Given the description of an element on the screen output the (x, y) to click on. 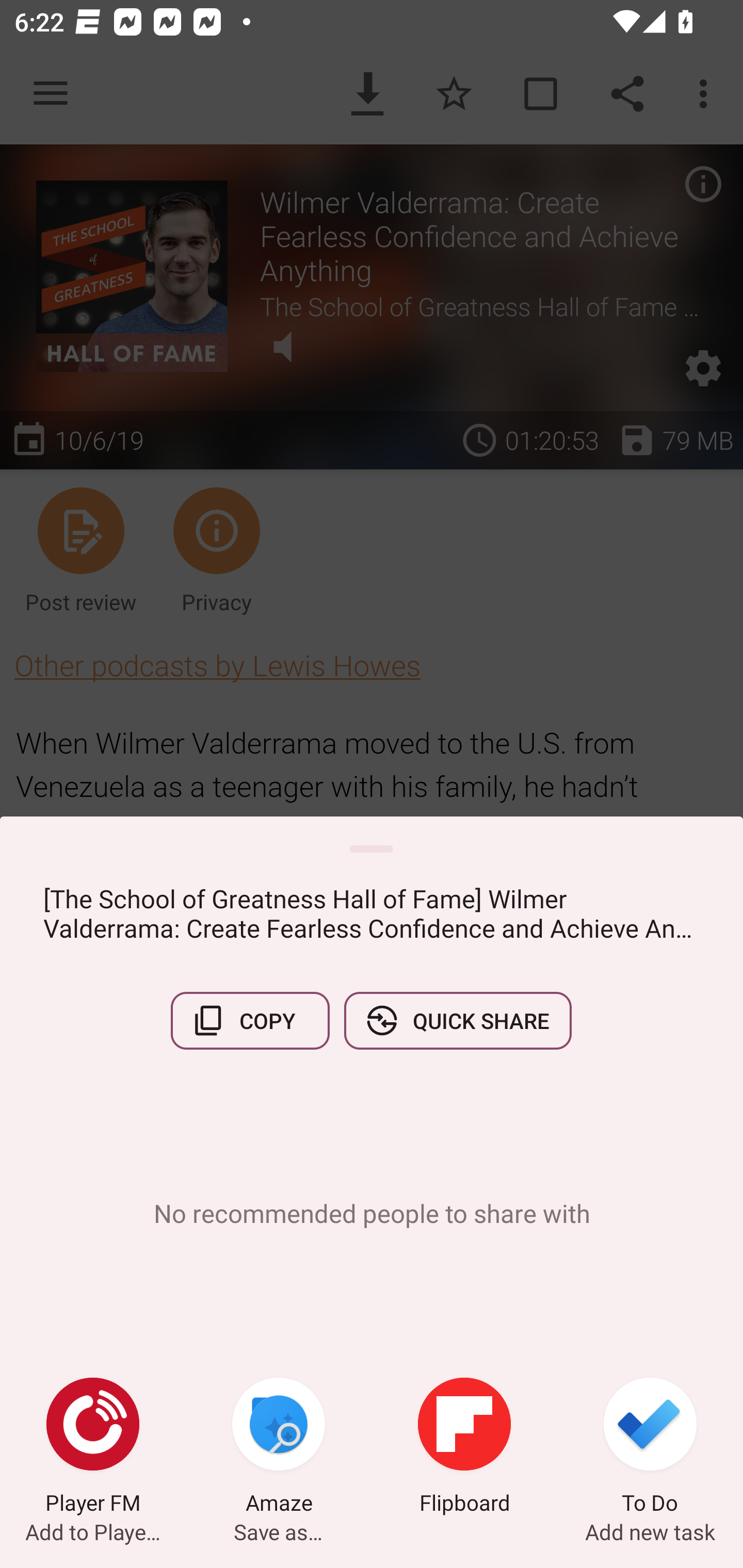
COPY (249, 1020)
QUICK SHARE (457, 1020)
Player FM Add to Player FM (92, 1448)
Amaze Save as… (278, 1448)
Flipboard (464, 1448)
To Do Add new task (650, 1448)
